Given the description of an element on the screen output the (x, y) to click on. 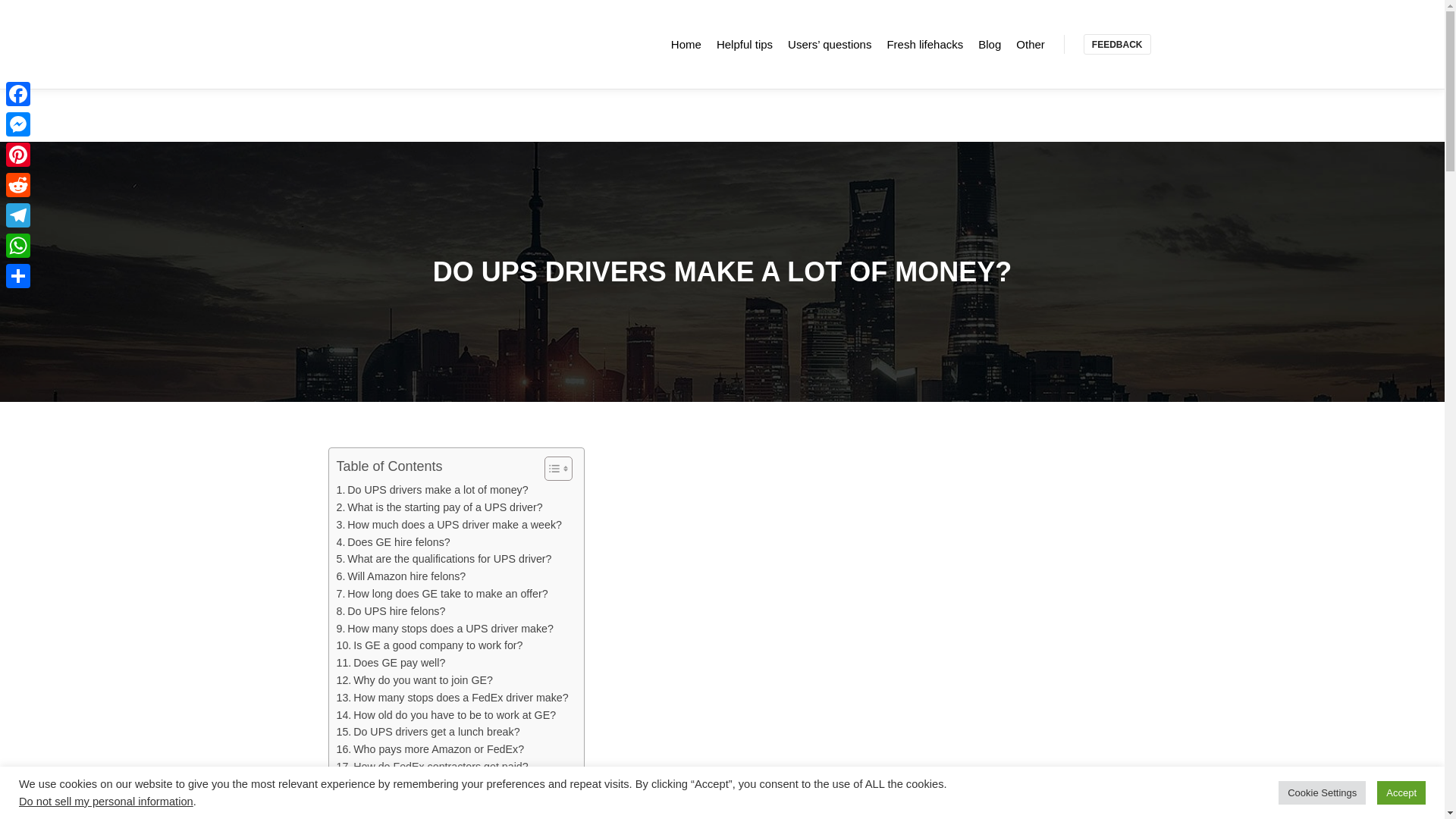
How many stops does a UPS driver make? (444, 628)
Does GE hire felons? (392, 542)
How many stops does a FedEx driver make? (452, 697)
Who pays more Amazon or FedEx? (430, 749)
Is GE a good company to work for? (429, 645)
What is the starting pay of a UPS driver? (439, 507)
How much does a UPS driver make a week? (449, 524)
Does GE hire felons? (392, 542)
Will Amazon hire felons? (400, 576)
How many stops does a FedEx driver make? (452, 697)
